Given the description of an element on the screen output the (x, y) to click on. 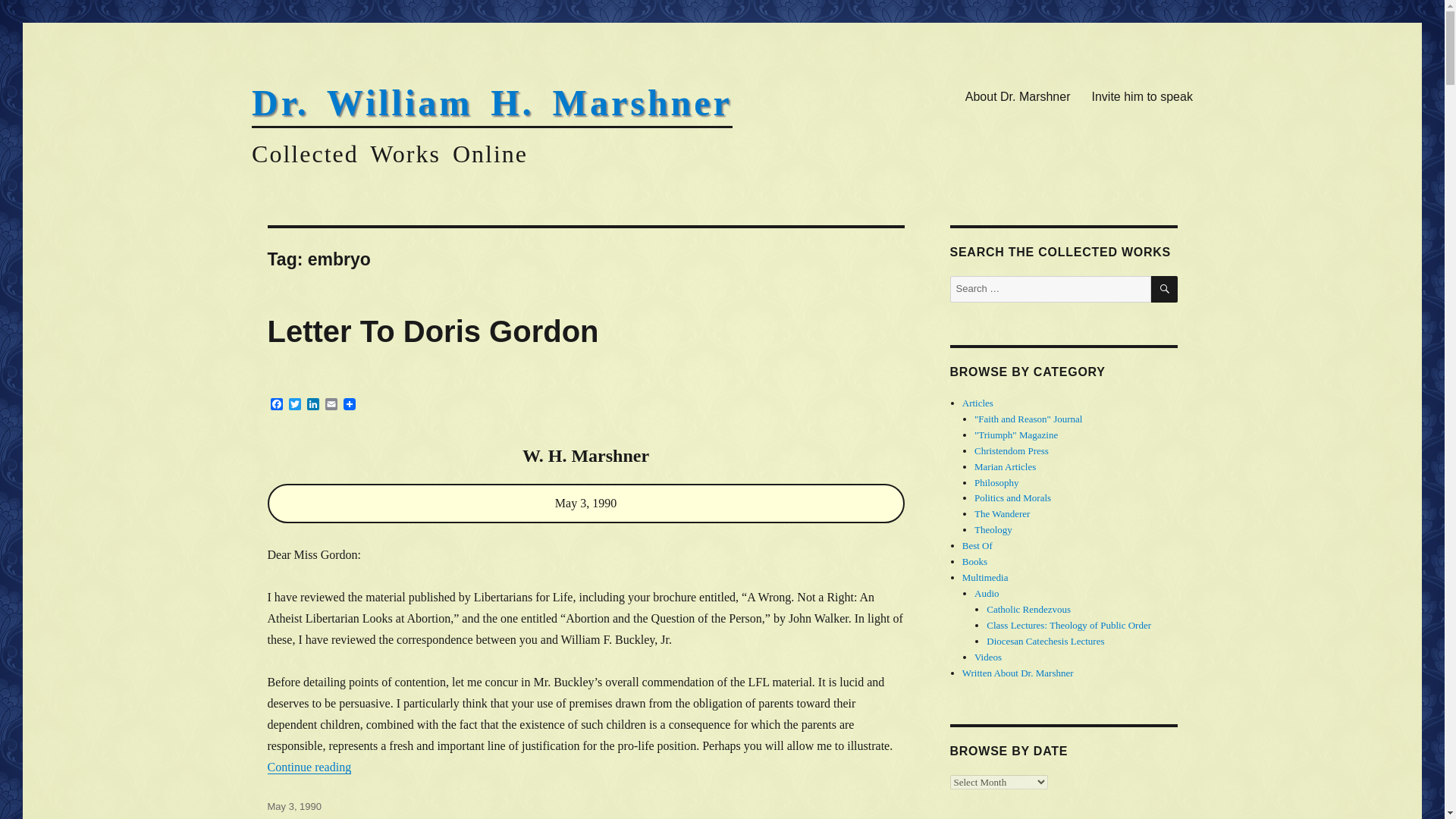
"Faith and Reason" Journal (1027, 419)
"Triumph" Magazine (1016, 434)
About Dr. Marshner (1018, 96)
SEARCH (1164, 289)
Invite him to speak (1142, 96)
Facebook (275, 405)
Email (330, 405)
Facebook (275, 405)
Multimedia (985, 577)
Politics and Morals (1012, 497)
